Given the description of an element on the screen output the (x, y) to click on. 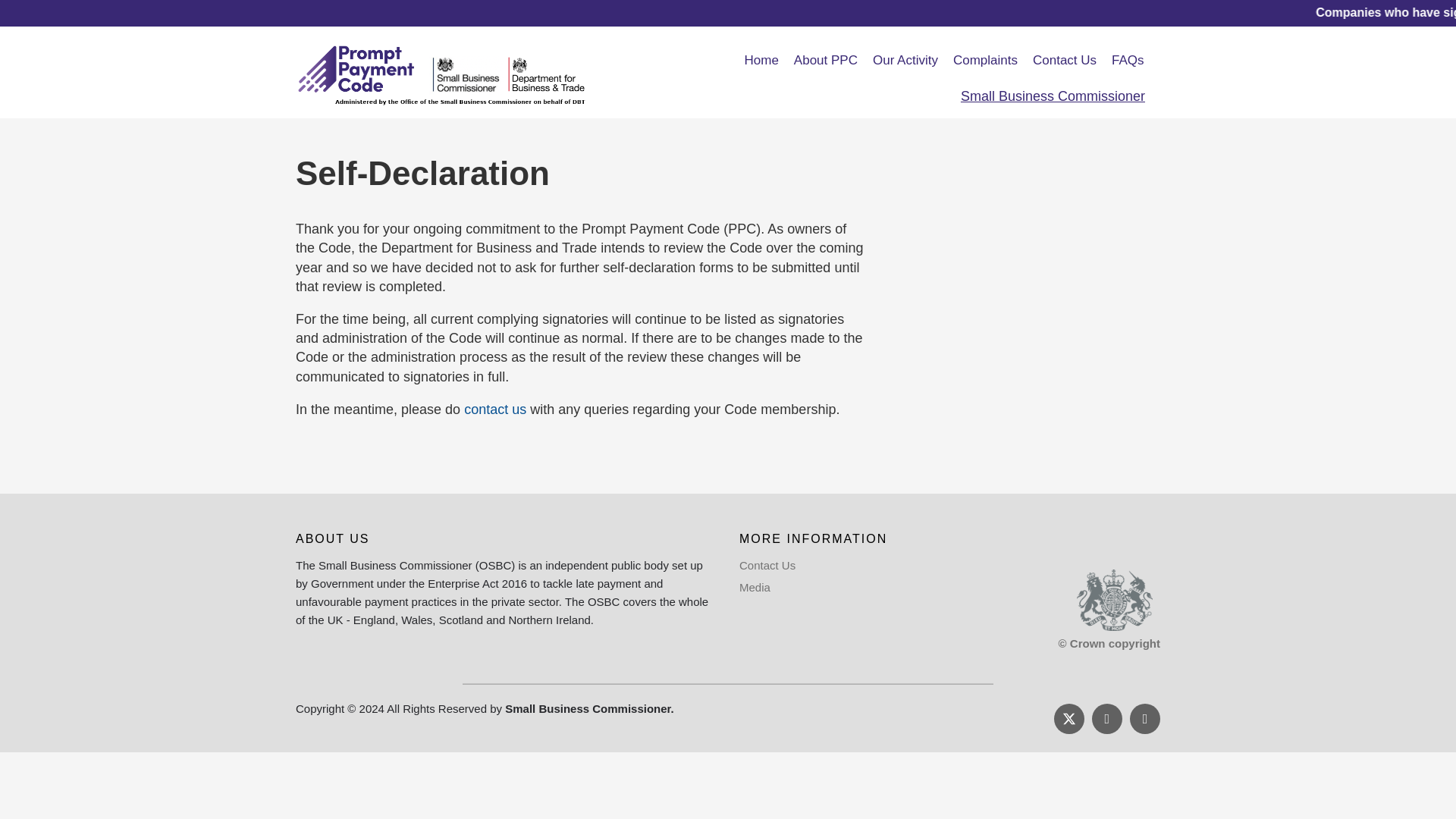
Small Business Commissioner. (589, 707)
Follow us on youtube (1144, 718)
Complaints (984, 60)
Contact Us (766, 564)
Follow us on X (1069, 718)
Small Business Commissioner (1052, 96)
About PPC (825, 60)
Follow us on linkedin (1107, 718)
Our Activity (904, 60)
contact us (494, 409)
